Given the description of an element on the screen output the (x, y) to click on. 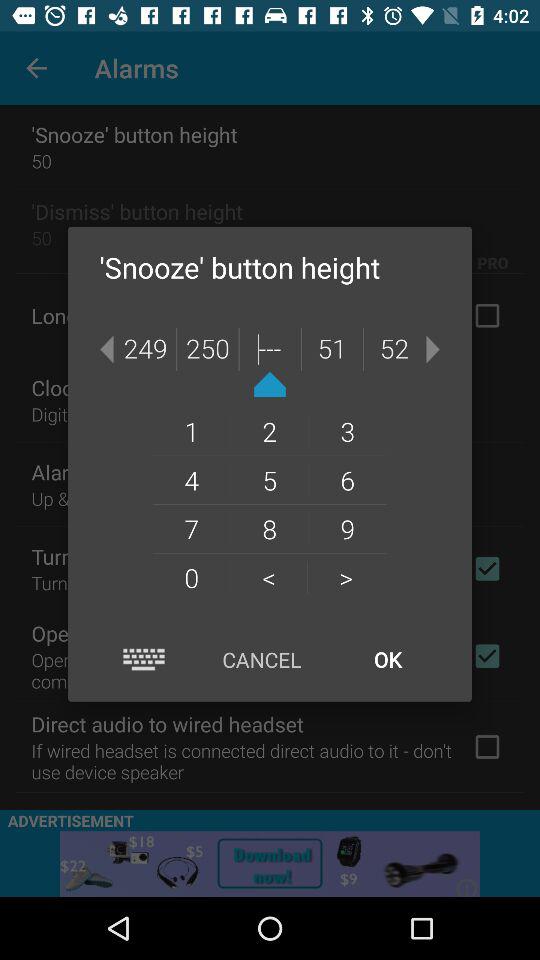
open the icon to the right of 2 (347, 431)
